Given the description of an element on the screen output the (x, y) to click on. 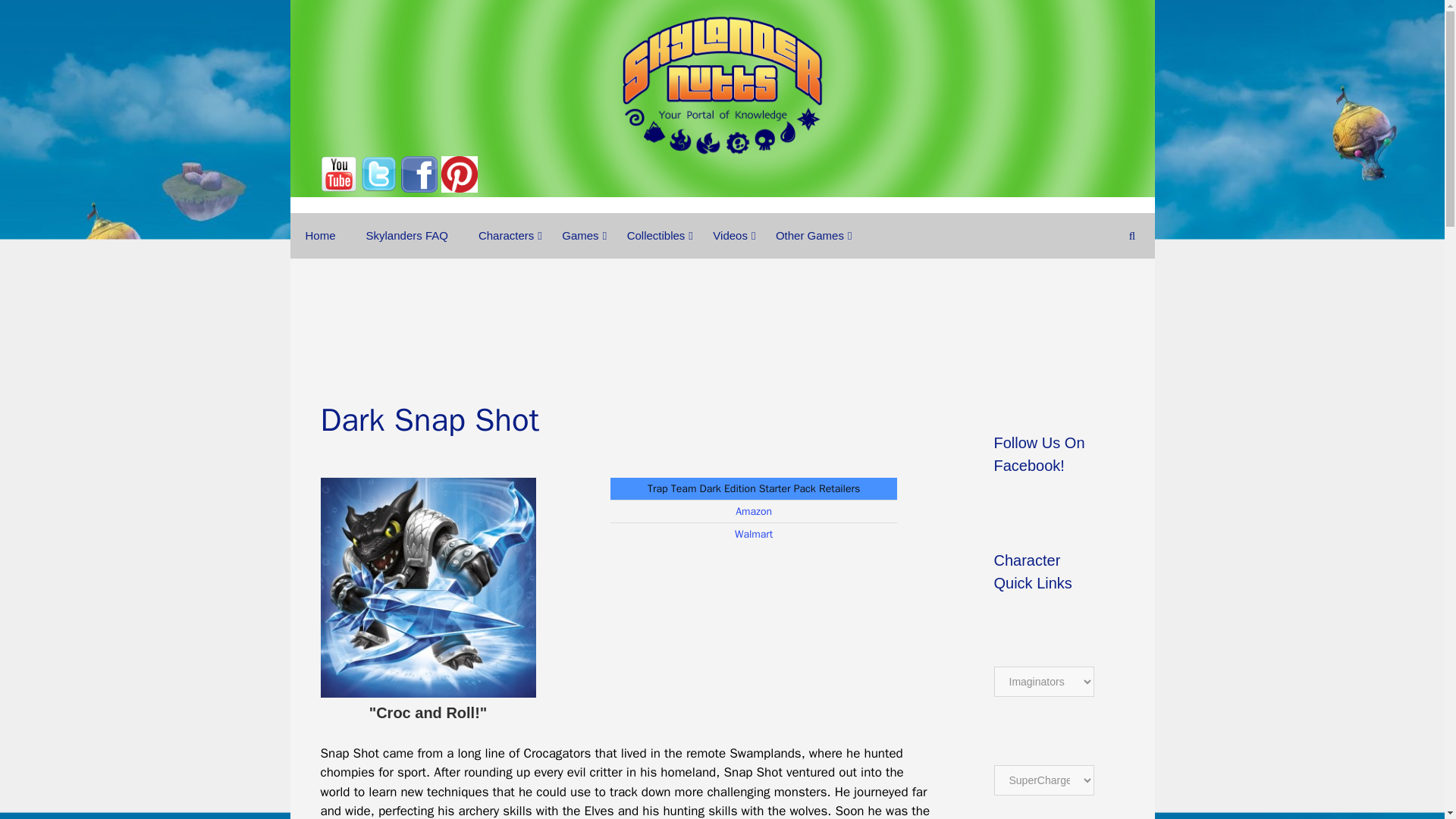
Collectibles (654, 235)
Skylanders FAQ (406, 235)
Home (319, 235)
Characters (505, 235)
Advertisement (722, 311)
Games (579, 235)
Dark Snap Shot (427, 587)
